Given the description of an element on the screen output the (x, y) to click on. 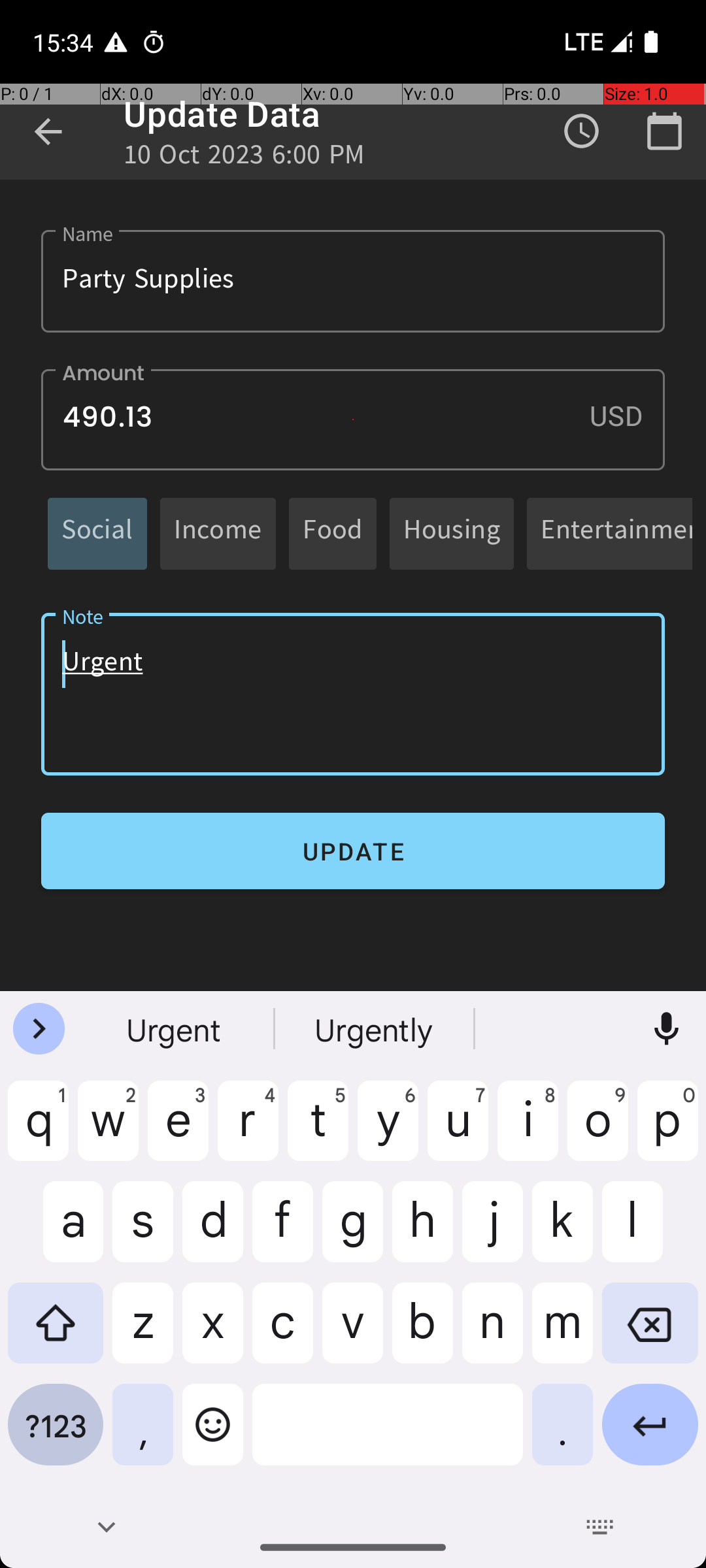
Update Data Element type: android.widget.TextView (221, 113)
10 Oct 2023 6:00 PM Element type: android.widget.TextView (244, 157)
Party Supplies Element type: android.widget.EditText (352, 280)
490.13 Element type: android.widget.EditText (352, 419)
Urgent Element type: android.widget.EditText (352, 693)
UPDATE Element type: android.widget.Button (352, 850)
Open features menu Element type: android.widget.FrameLayout (39, 1028)
Urgently Element type: android.widget.FrameLayout (375, 1028)
